Given the description of an element on the screen output the (x, y) to click on. 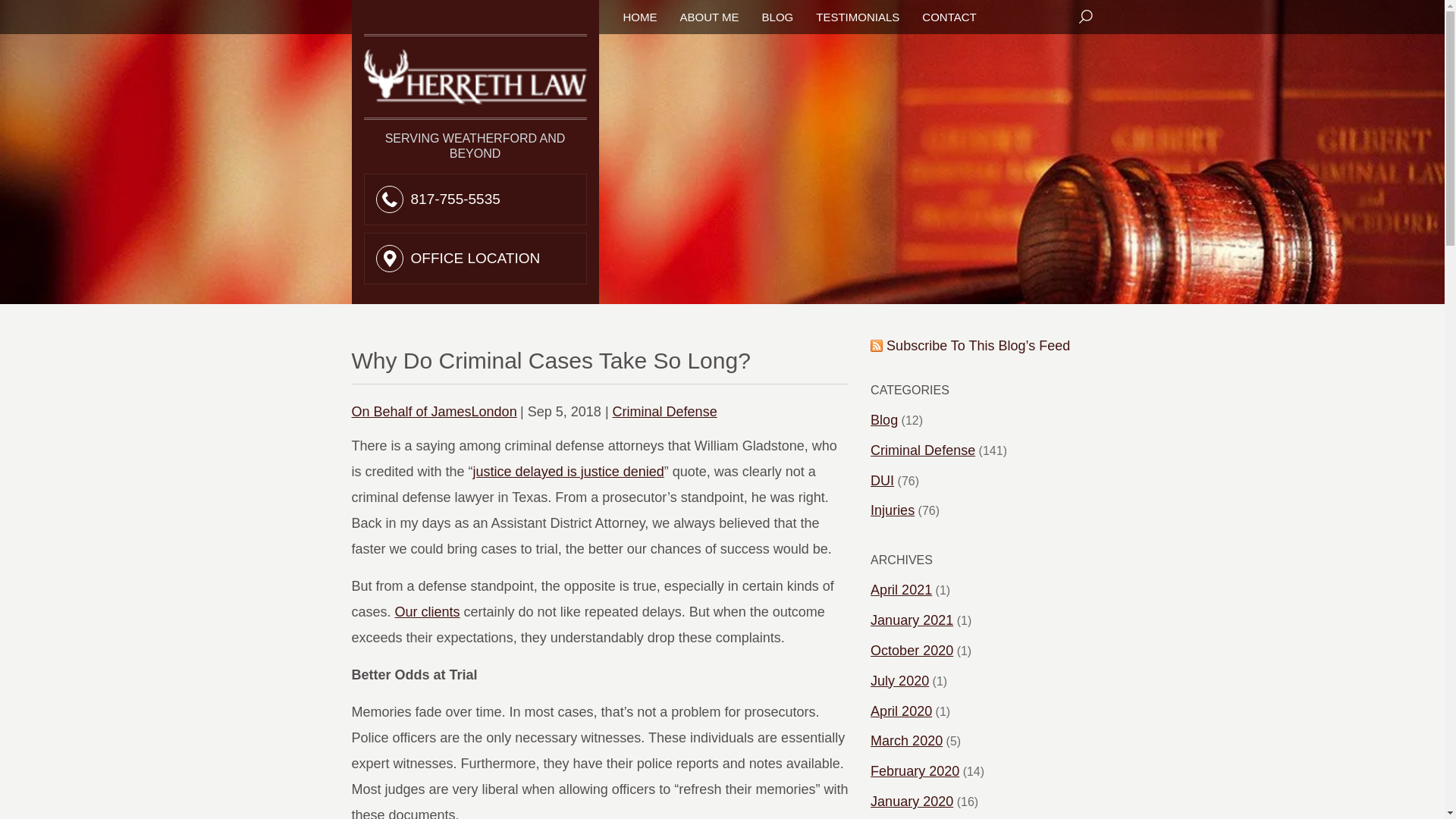
CONTACT (948, 16)
February 2020 (914, 771)
Criminal Defense (664, 411)
January 2020 (911, 801)
On Behalf of JamesLondon (434, 411)
DUI (881, 481)
817-755-5535 (455, 198)
Search (1085, 16)
April 2020 (900, 711)
justice delayed is justice denied (568, 471)
BLOG (777, 16)
July 2020 (899, 681)
ABOUT ME (708, 16)
JamesLondon (434, 411)
January 2021 (911, 620)
